Given the description of an element on the screen output the (x, y) to click on. 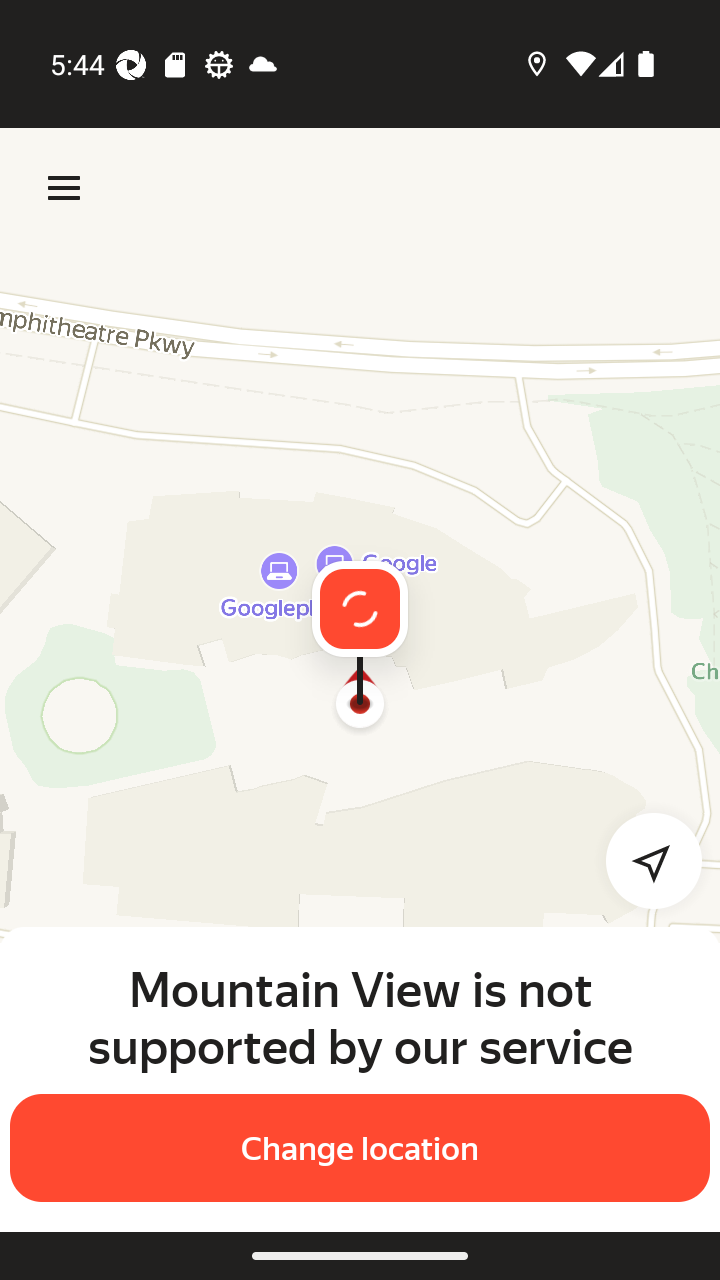
Menu Menu Menu (64, 188)
Detect my location (641, 860)
Mountain View is not supported by our service (360, 1017)
Change location (359, 1147)
